Given the description of an element on the screen output the (x, y) to click on. 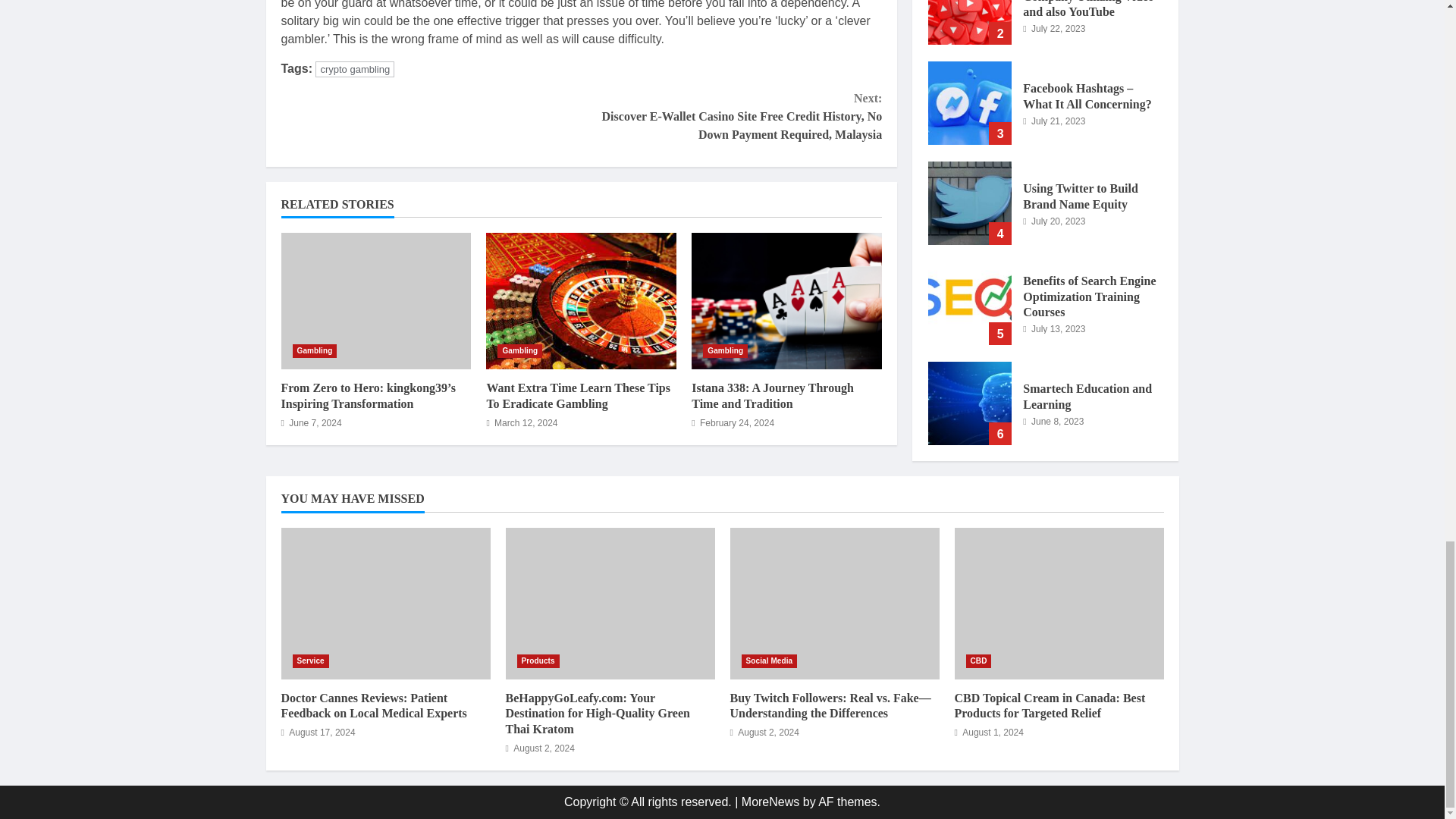
Istana 338: A Journey Through Time and Tradition (772, 395)
Gambling (725, 350)
crypto gambling (354, 68)
Want Extra Time Learn These Tips To Eradicate Gambling (581, 300)
Gambling (314, 350)
Gambling (519, 350)
Want Extra Time Learn These Tips To Eradicate Gambling (577, 395)
Istana 338: A Journey Through Time and Tradition (786, 300)
